Given the description of an element on the screen output the (x, y) to click on. 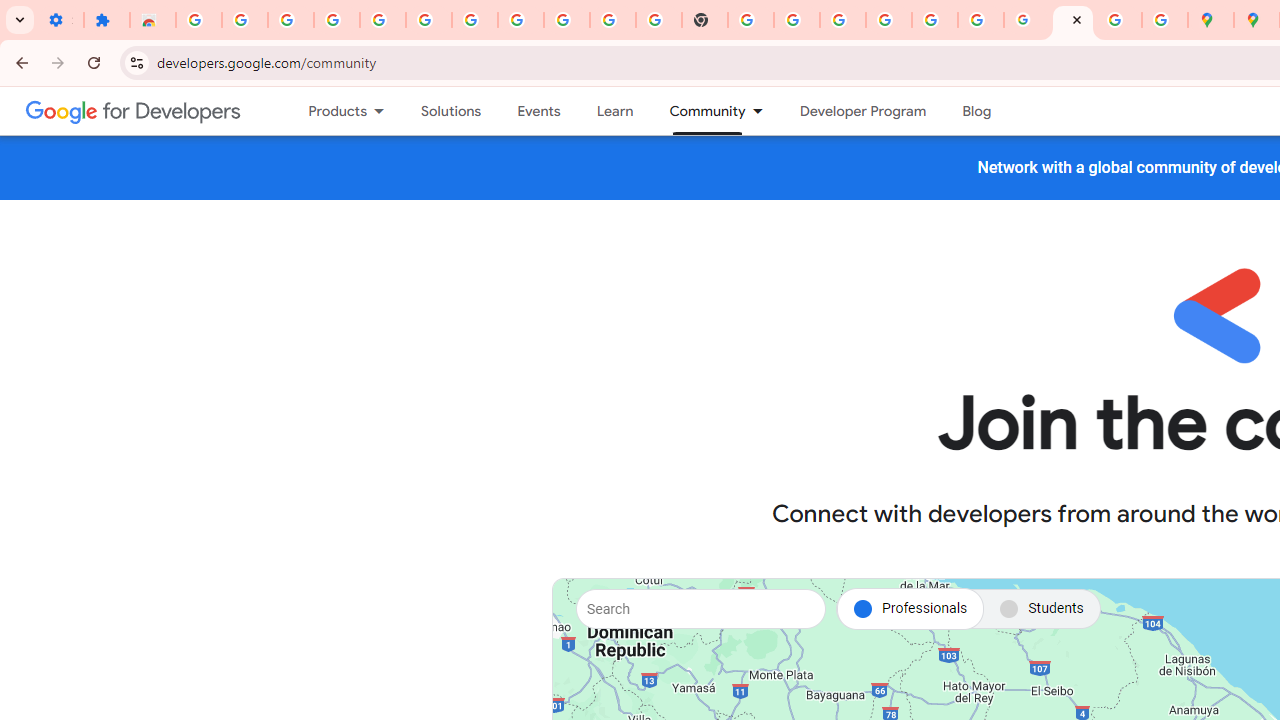
Dropdown menu for Products (385, 111)
Events (538, 111)
Community, selected (698, 111)
Developer Program (862, 111)
Blog (976, 111)
